Given the description of an element on the screen output the (x, y) to click on. 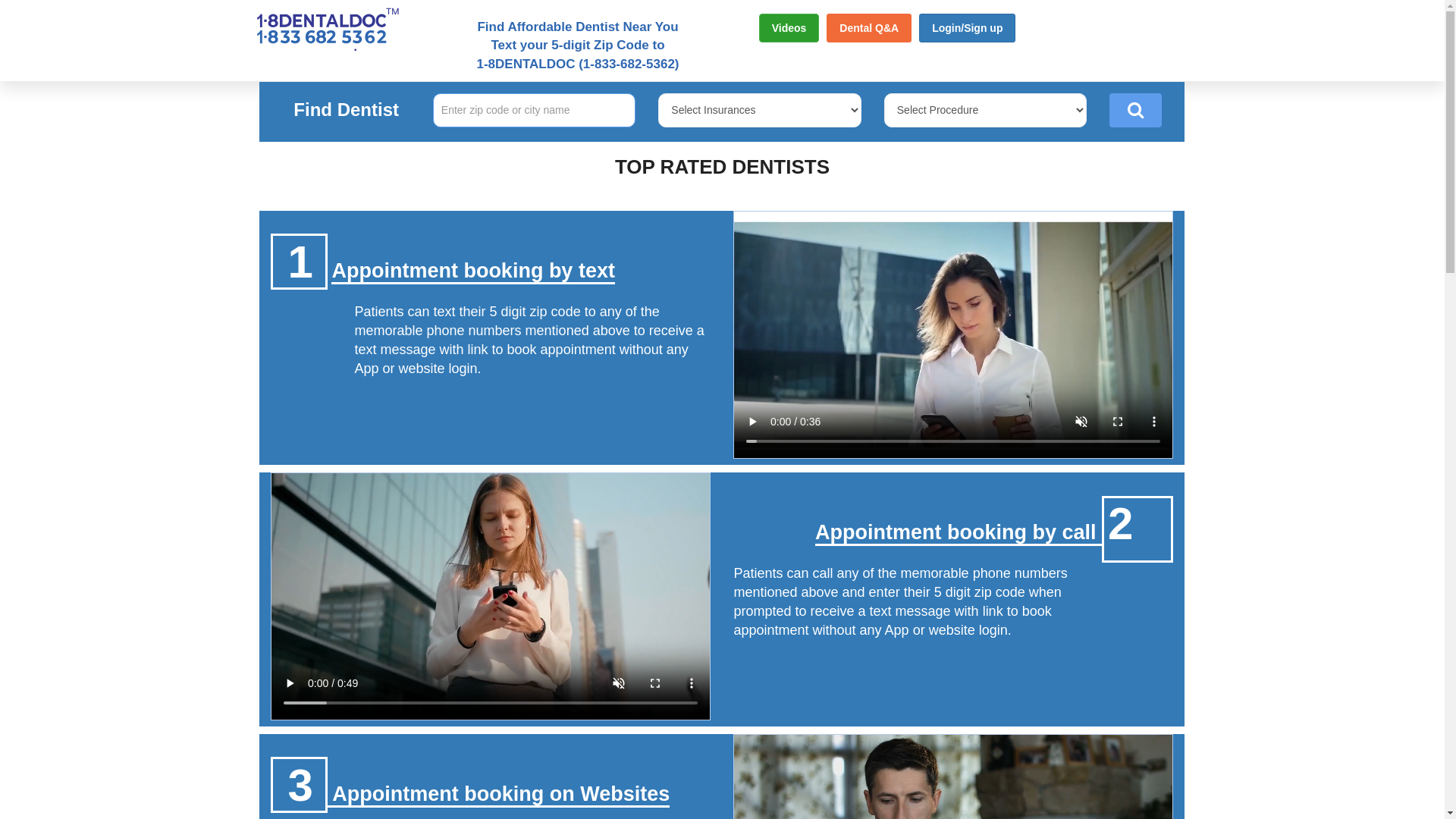
Videos Element type: text (789, 27)
Search Element type: hover (1135, 110)
Login/Sign up Element type: text (967, 27)
Dental Q&A Element type: text (868, 27)
